Given the description of an element on the screen output the (x, y) to click on. 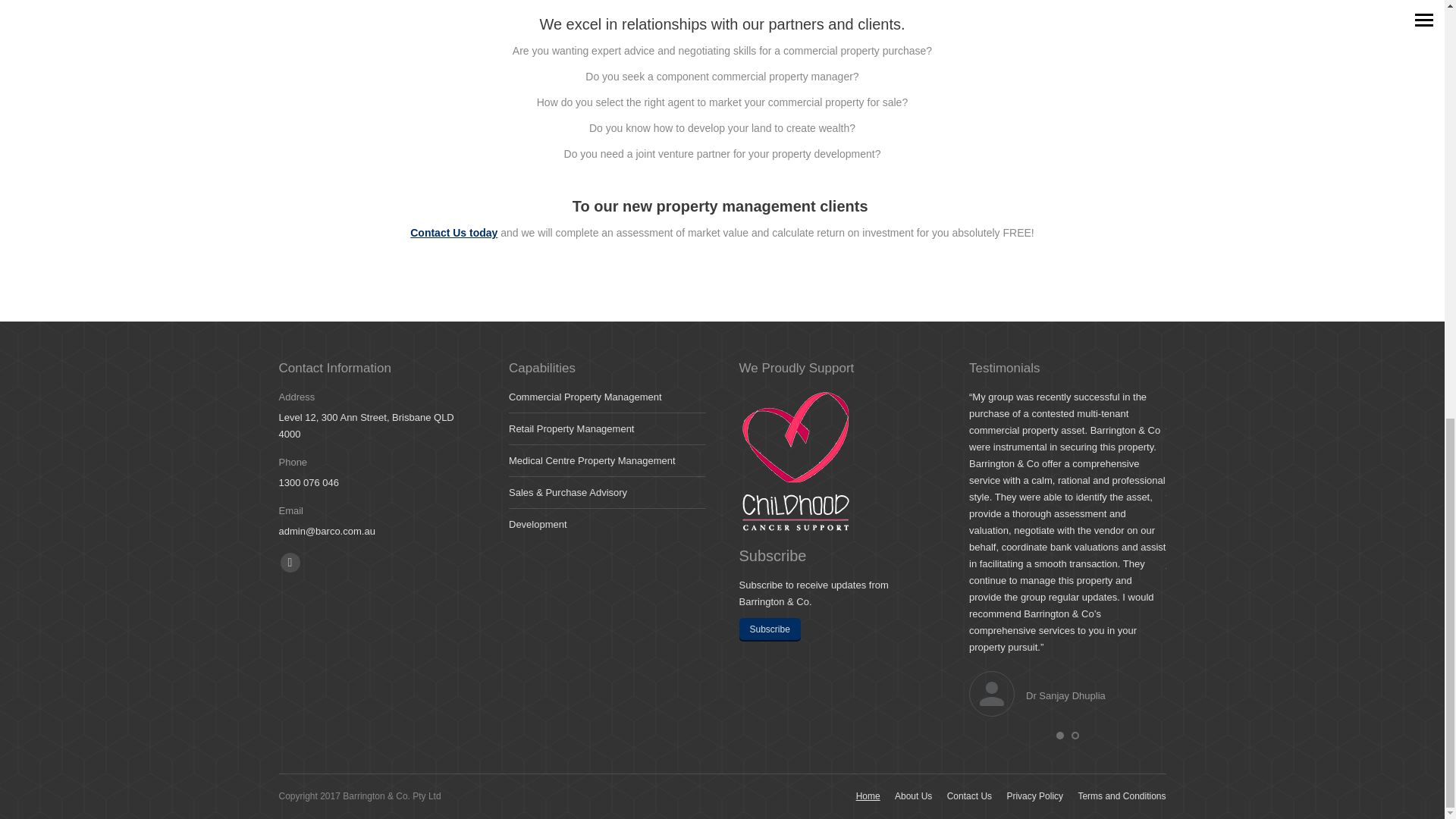
Retail Property Management (570, 428)
Contact Us today (453, 232)
Subscribe (768, 628)
Privacy Policy (1034, 796)
Medical Centre Property Management (591, 460)
Development (537, 524)
Commercial Property Management (585, 397)
Terms and Conditions (1121, 796)
Contact Us (969, 796)
Home (868, 796)
Linkedin page opens in new window (290, 562)
Linkedin page opens in new window (290, 562)
About Us (913, 796)
